Given the description of an element on the screen output the (x, y) to click on. 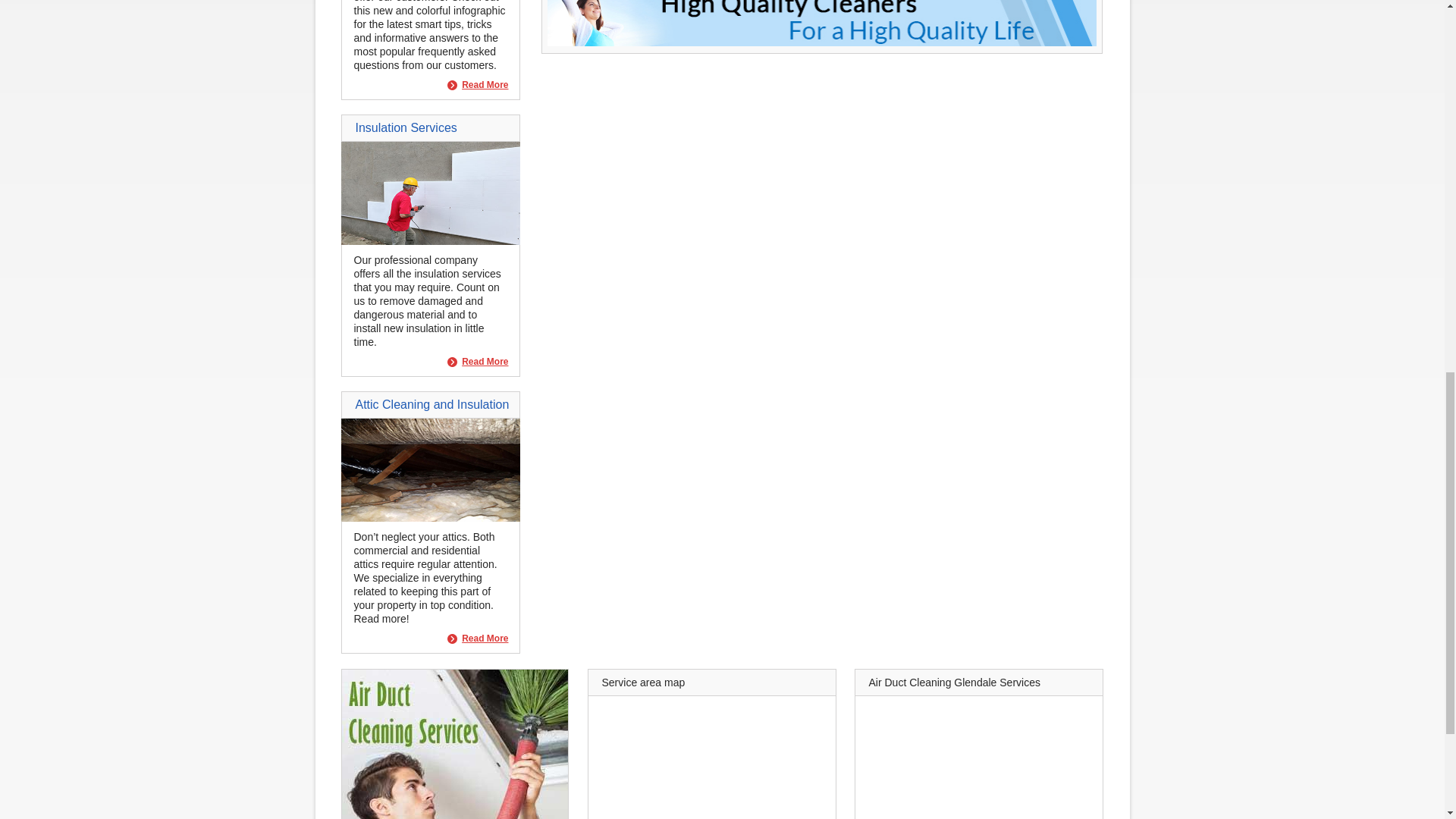
Banner (821, 42)
Insulation Services (429, 241)
Read More (477, 85)
Read More (477, 638)
Read More (477, 361)
Attic Cleaning and Insulation (429, 517)
Read More (477, 361)
Read More (477, 638)
Insulation Services (406, 127)
Attic Cleaning and Insulation (431, 404)
Read More (477, 85)
